Given the description of an element on the screen output the (x, y) to click on. 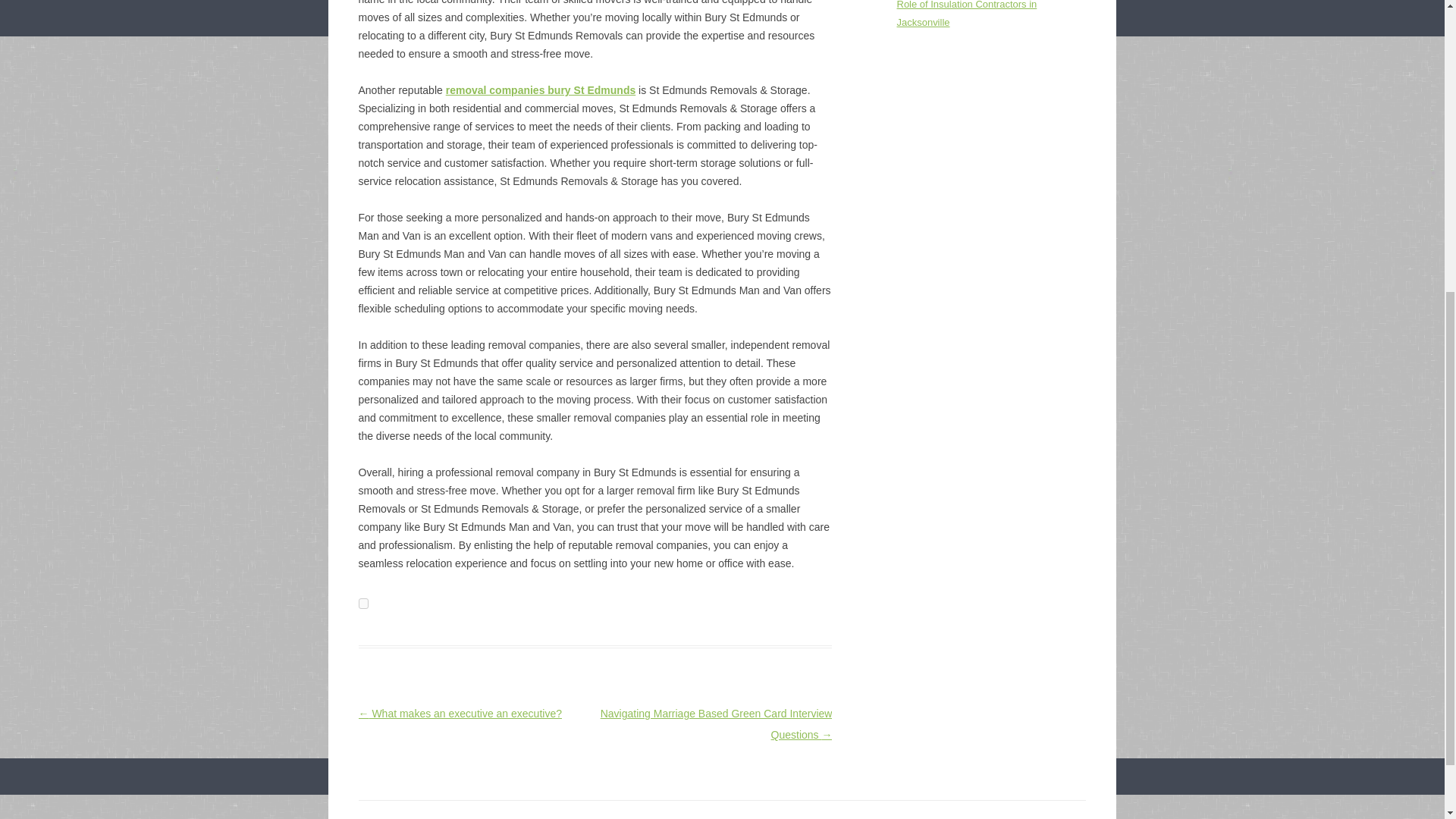
removal companies bury St Edmunds (540, 90)
